Given the description of an element on the screen output the (x, y) to click on. 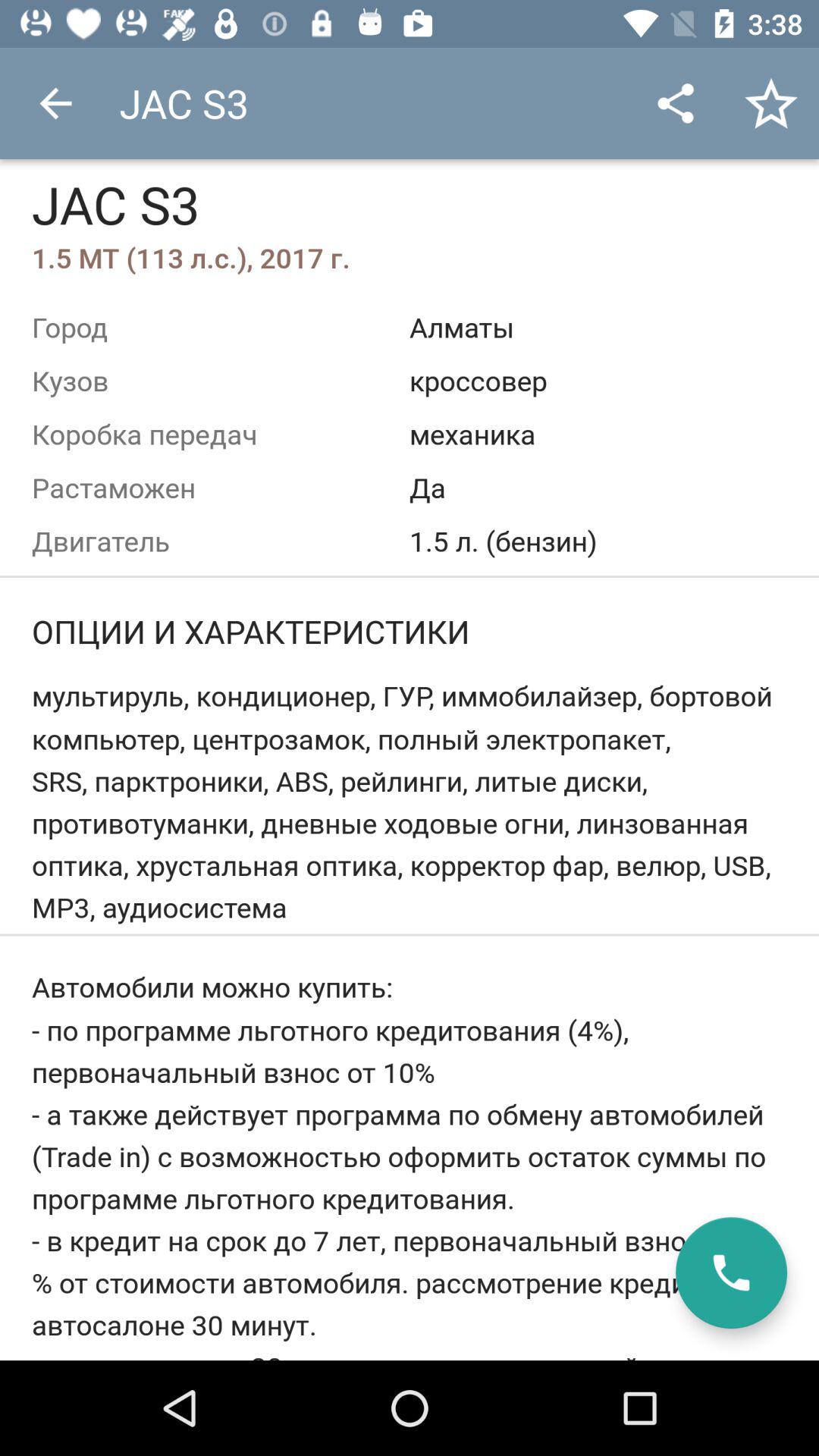
click app next to the jac s3 icon (55, 103)
